Given the description of an element on the screen output the (x, y) to click on. 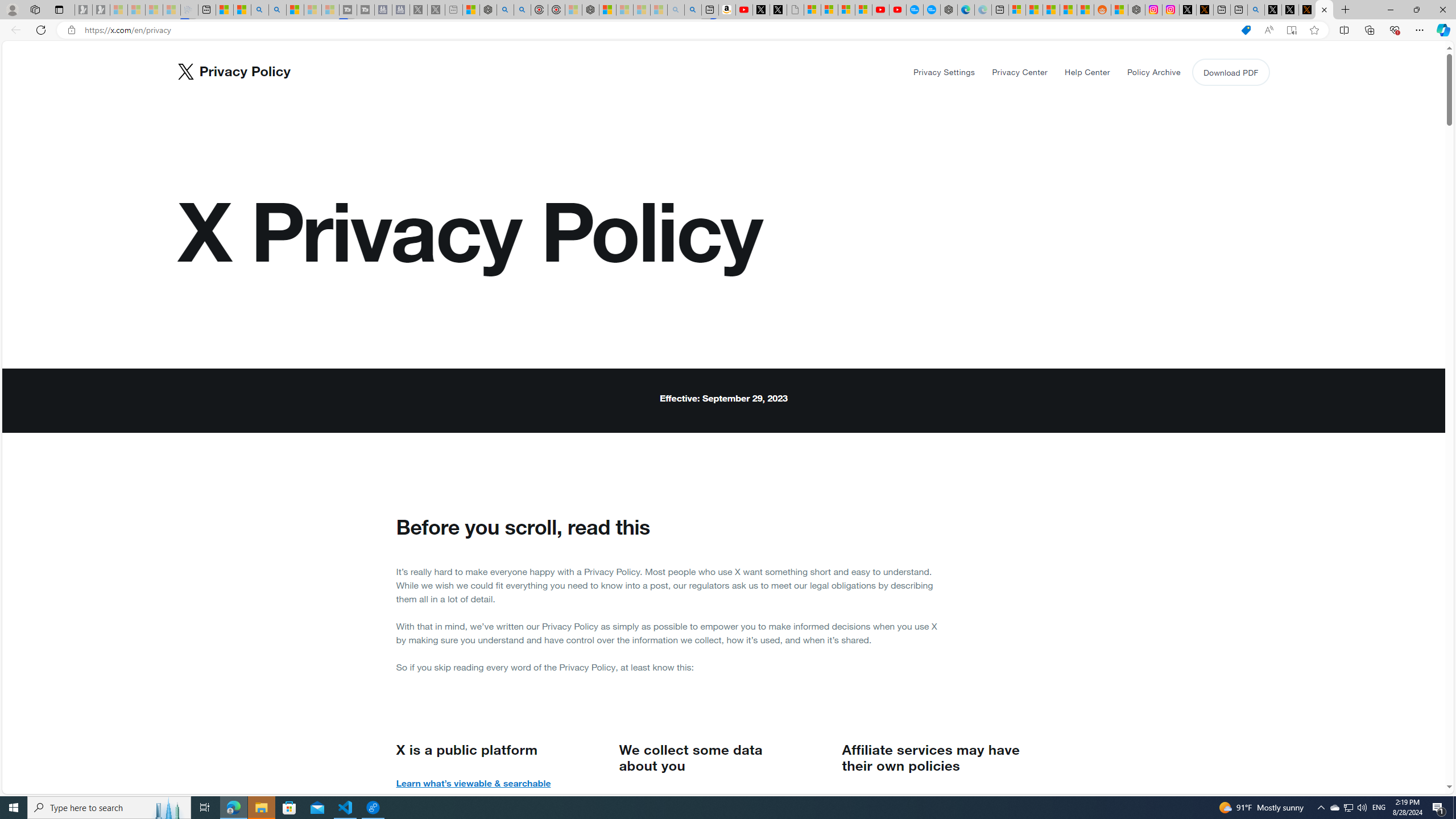
View site information (70, 29)
Log in to X / X (1187, 9)
New tab (1238, 9)
Help Center (1086, 71)
amazon - Search - Sleeping (675, 9)
poe ++ standard - Search (522, 9)
New split screen (710, 9)
Amazon Echo Dot PNG - Search Images (692, 9)
Policy Archive (1153, 71)
